Given the description of an element on the screen output the (x, y) to click on. 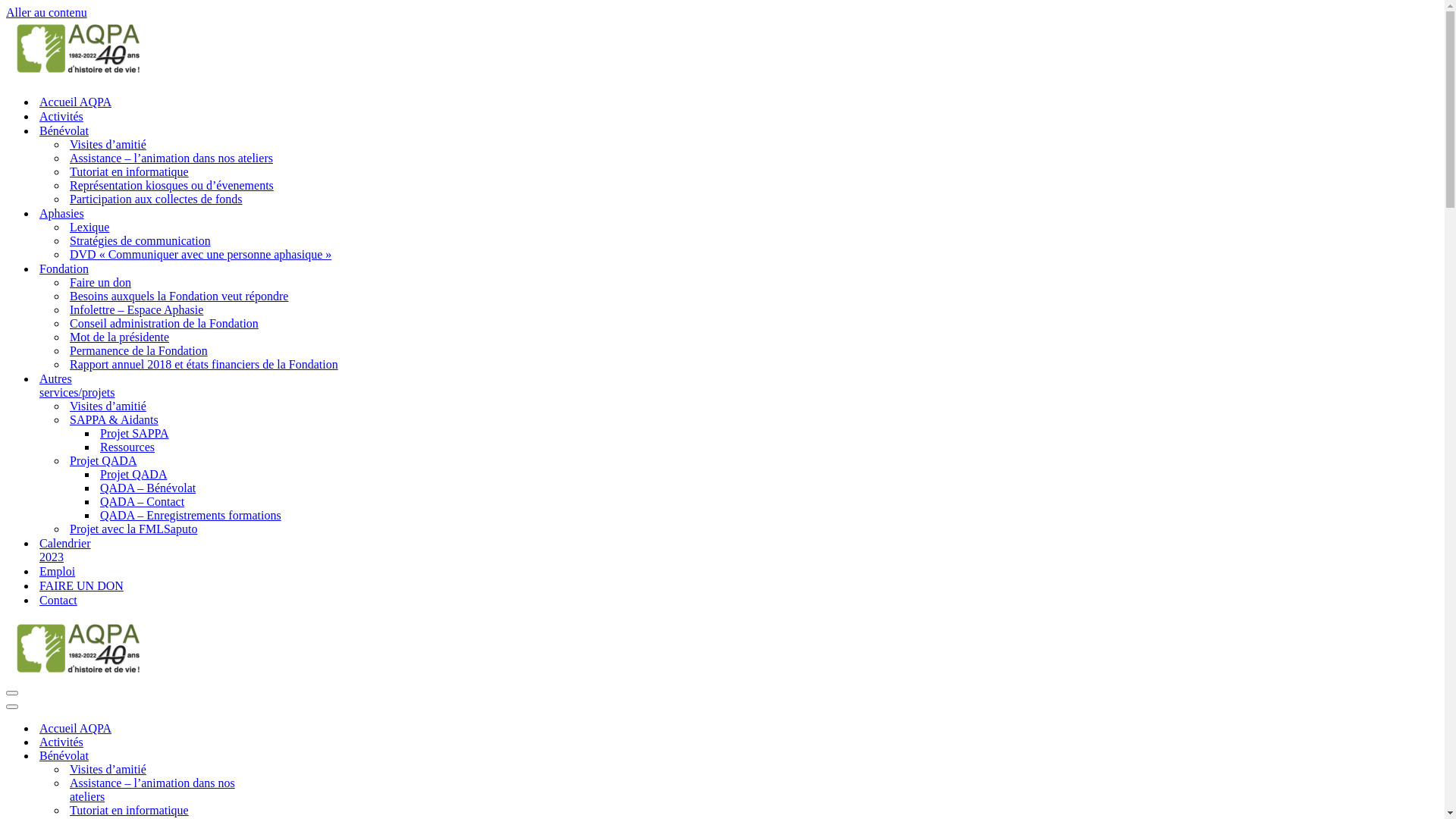
Aphasies Element type: text (61, 213)
Menu de navigation Element type: text (12, 692)
Conseil administration de la Fondation Element type: text (163, 323)
Tutoriat en informatique Element type: text (172, 810)
Contact Element type: text (58, 600)
Fondation Element type: text (63, 268)
Emploi Element type: text (57, 571)
Projet avec la FMLSaputo Element type: text (133, 529)
Projet QADA Element type: text (102, 460)
Faire un don Element type: text (100, 282)
Permanence de la Fondation Element type: text (138, 350)
FAIRE UN DON Element type: text (81, 585)
Menu de navigation Element type: text (12, 706)
Accueil AQPA Element type: text (157, 728)
Participation aux collectes de fonds Element type: text (155, 199)
Calendrier
2023 Element type: text (65, 550)
Aller au contenu Element type: text (46, 12)
Projet SAPPA Element type: text (134, 433)
Lexique Element type: text (89, 227)
Ressources Element type: text (127, 447)
Autres
services/projets Element type: text (77, 385)
SAPPA & Aidants Element type: text (113, 419)
Accueil AQPA Element type: text (75, 101)
Projet QADA Element type: text (133, 474)
Tutoriat en informatique Element type: text (128, 171)
